Given the description of an element on the screen output the (x, y) to click on. 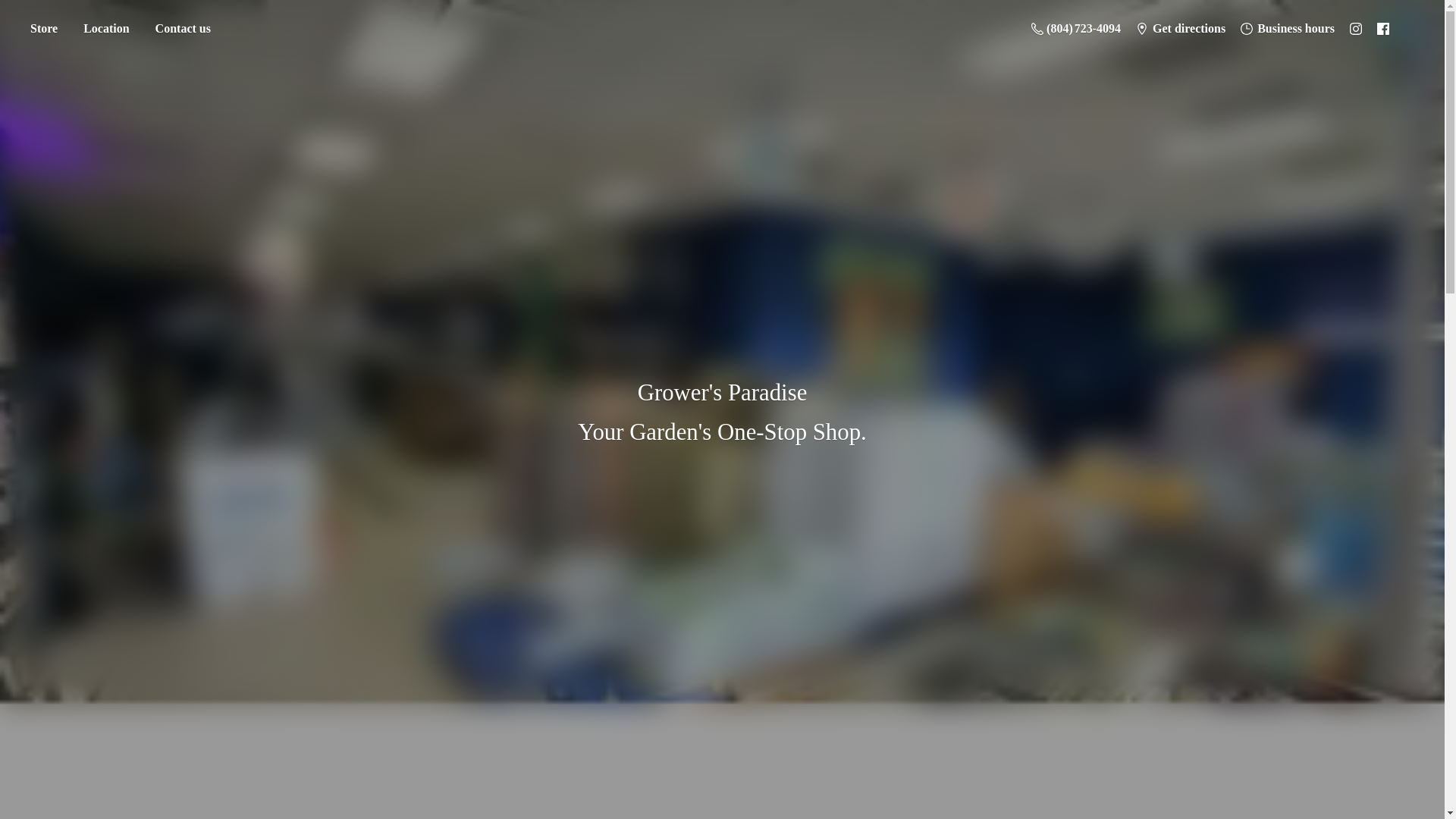
Business hours (1287, 28)
Get directions (1180, 28)
Contact us (183, 29)
Store (43, 29)
Location (105, 29)
